Given the description of an element on the screen output the (x, y) to click on. 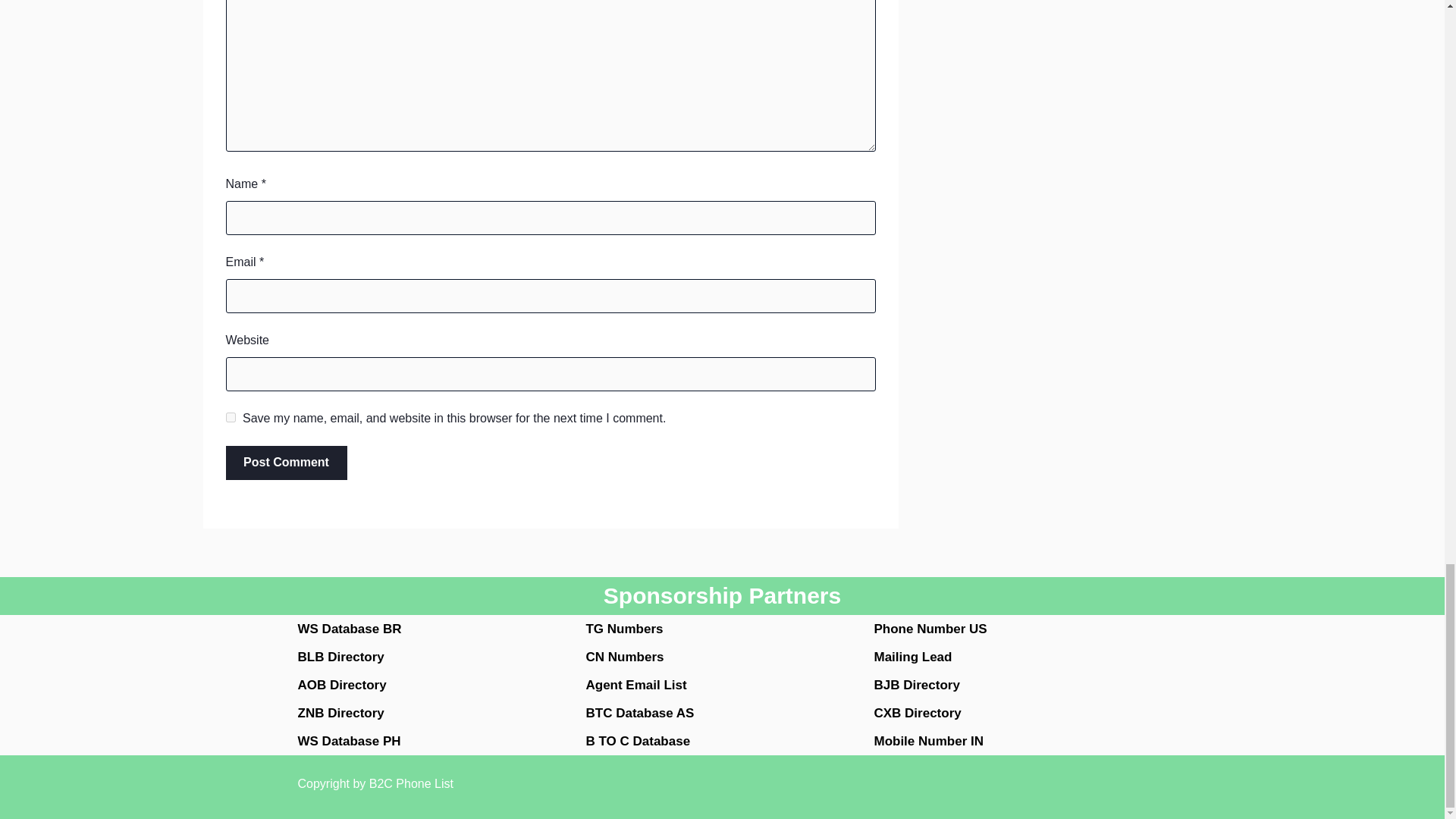
AOB Directory (341, 685)
WS Database BR (349, 628)
TG Numbers (623, 628)
CN Numbers (624, 657)
Agent Email List (635, 685)
yes (230, 417)
BLB Directory (340, 657)
WS Database PH (348, 740)
ZNB Directory (340, 712)
Post Comment (286, 462)
Post Comment (286, 462)
